Given the description of an element on the screen output the (x, y) to click on. 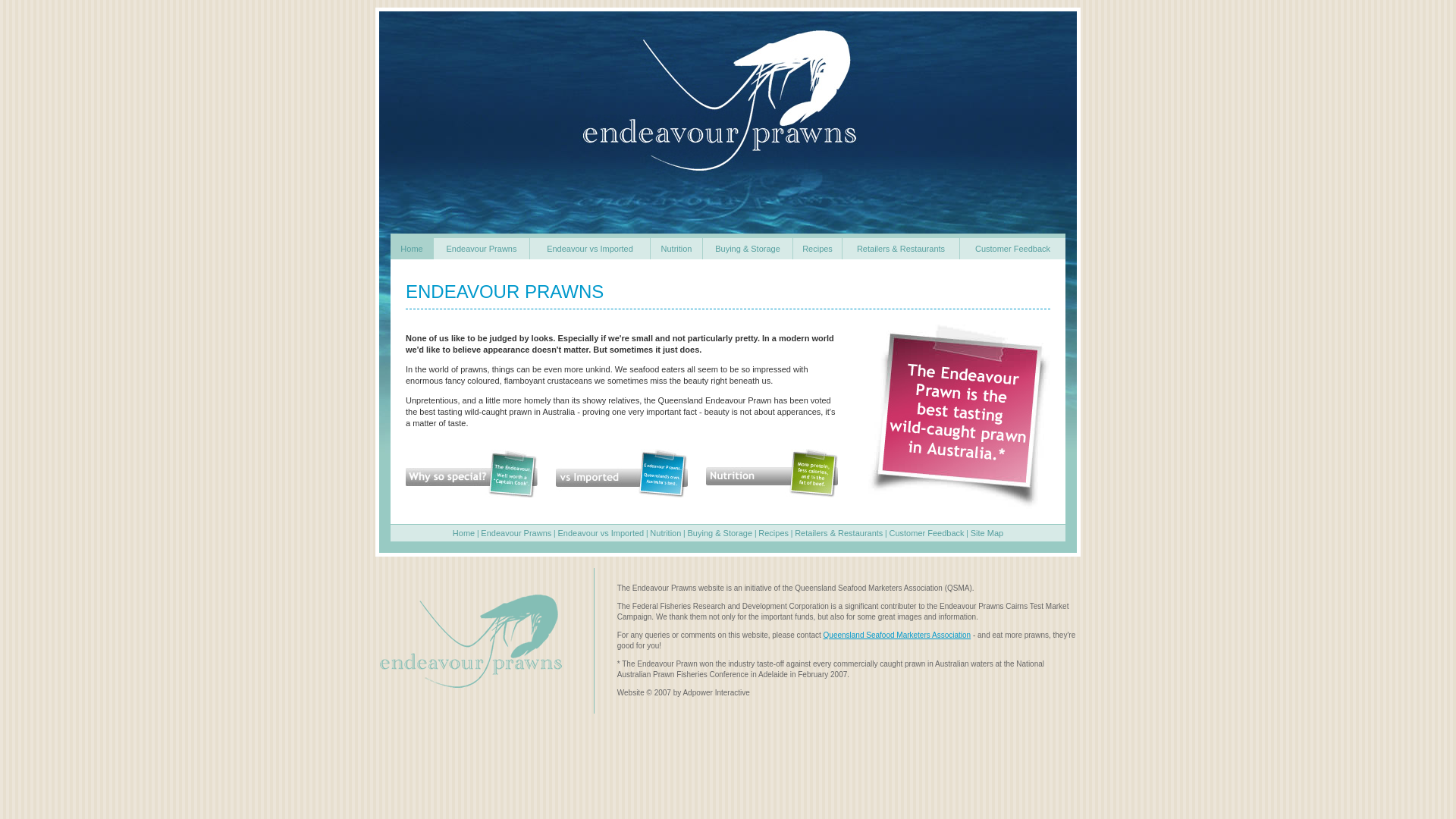
Nutrition Element type: text (664, 531)
Endeavour vs Imported Element type: text (600, 531)
Retailers & Restaurants Element type: text (838, 531)
Recipes Element type: text (817, 248)
Customer Feedback Element type: text (1012, 248)
Home Element type: text (463, 531)
Customer Feedback Element type: text (925, 531)
Endeavour Prawns Element type: text (481, 248)
Home Element type: text (411, 248)
Recipes Element type: text (773, 531)
Queensland Seafood Marketers Association Element type: text (897, 634)
Endeavour vs Imported Element type: text (590, 248)
Nutrition Element type: text (676, 248)
Endeavour Prawns Element type: text (515, 531)
Buying & Storage Element type: text (719, 531)
Site Map Element type: text (986, 531)
Buying & Storage Element type: text (747, 248)
Retailers & Restaurants Element type: text (901, 248)
